Given the description of an element on the screen output the (x, y) to click on. 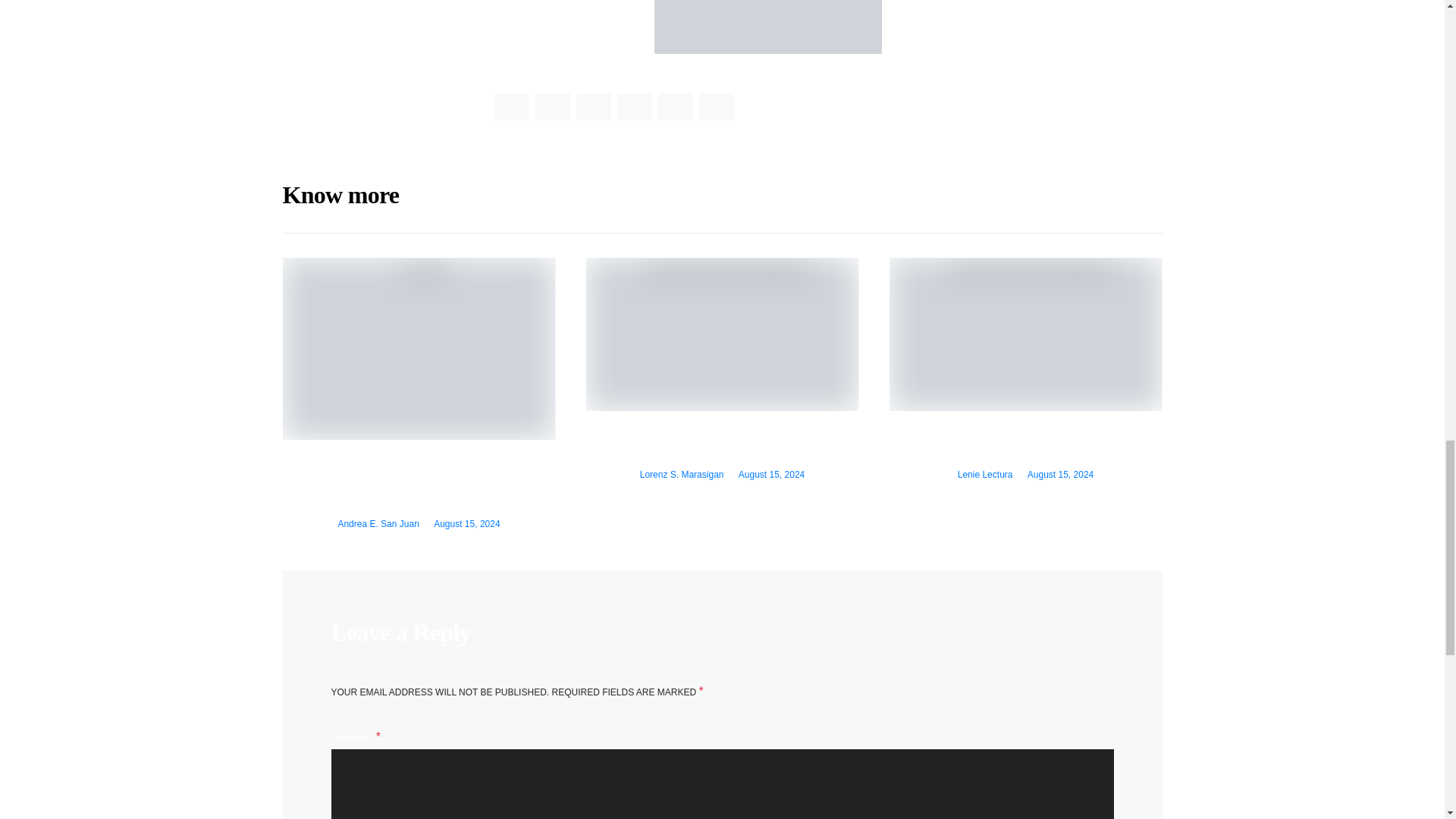
View all posts by Andrea E. San Juan (378, 523)
View all posts by Lenie Lectura (985, 474)
View all posts by Lorenz S. Marasigan (681, 474)
